Given the description of an element on the screen output the (x, y) to click on. 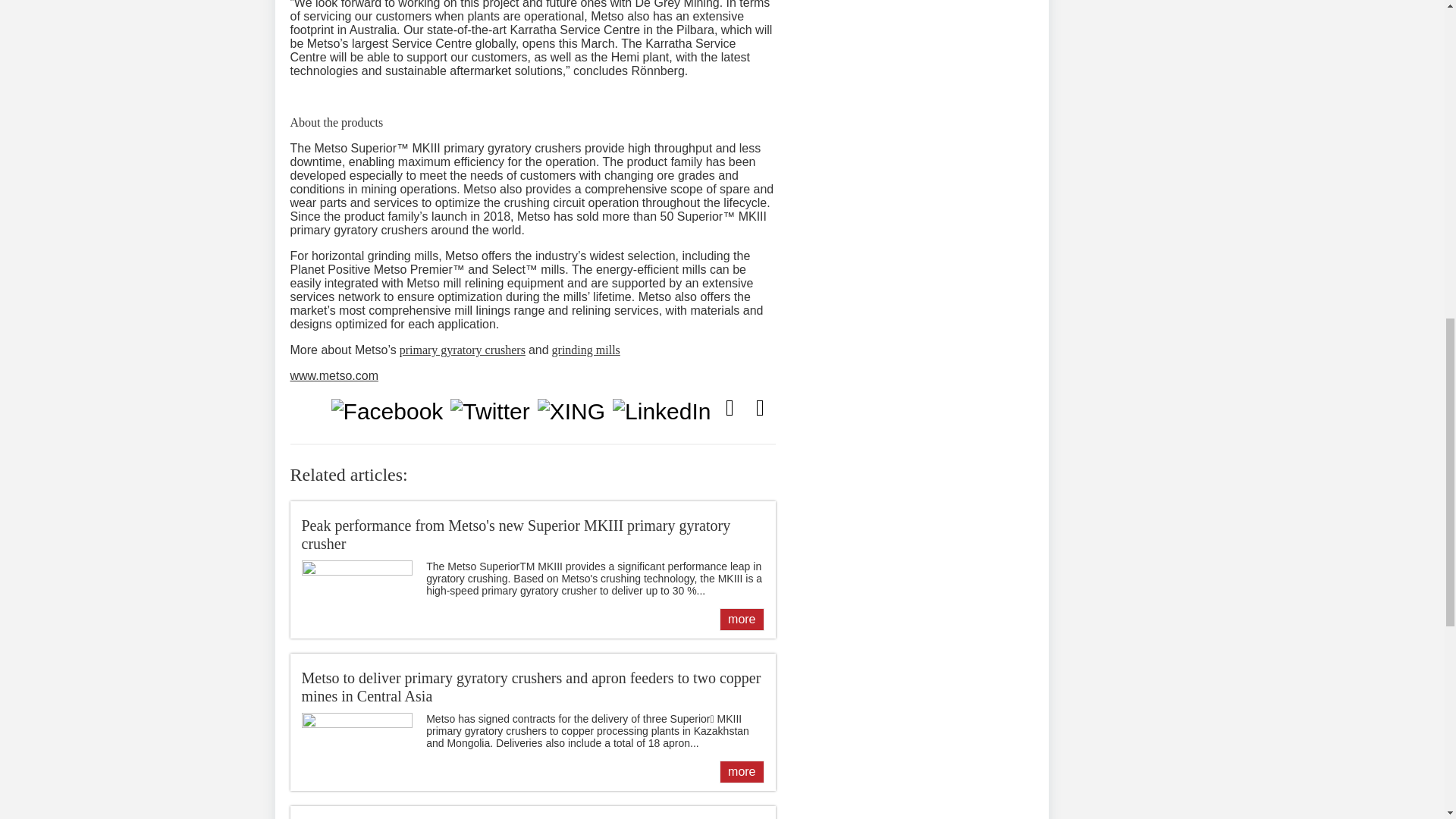
Per E-Mail teilen (729, 407)
more (740, 619)
www.metso.com (333, 375)
Tweet auf Twitter (489, 411)
Auf facebook teilen (386, 411)
Auf LinkedIn teilen (661, 411)
grinding mills (585, 349)
primary gyratory crushers (461, 349)
Artikel drucken (759, 407)
Auf Xing teilen (571, 411)
